Given the description of an element on the screen output the (x, y) to click on. 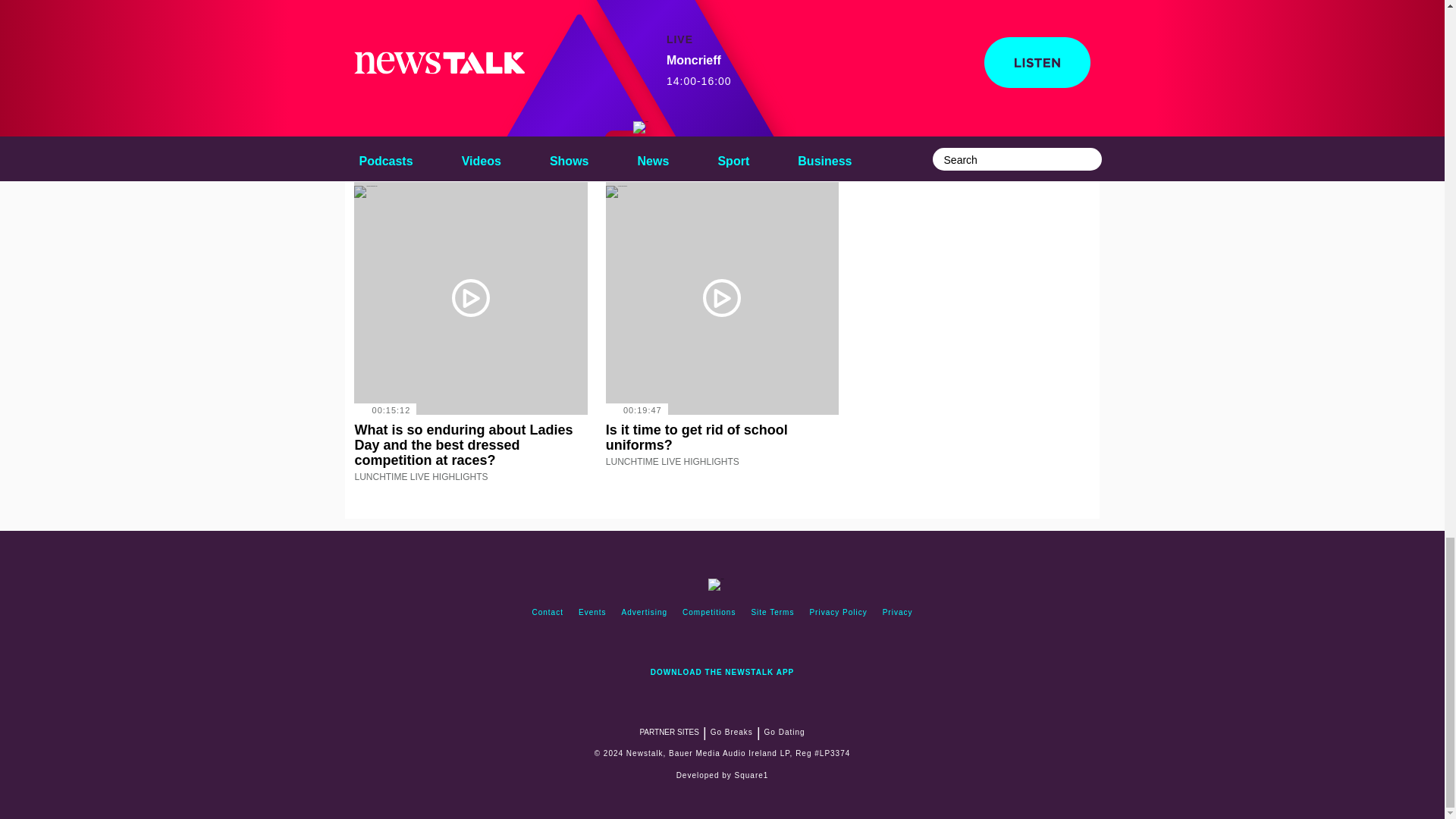
site terms (772, 612)
competitions (708, 612)
contact (547, 612)
Privacy (897, 612)
events (592, 612)
advertising (644, 612)
Privacy Policy (838, 612)
